Given the description of an element on the screen output the (x, y) to click on. 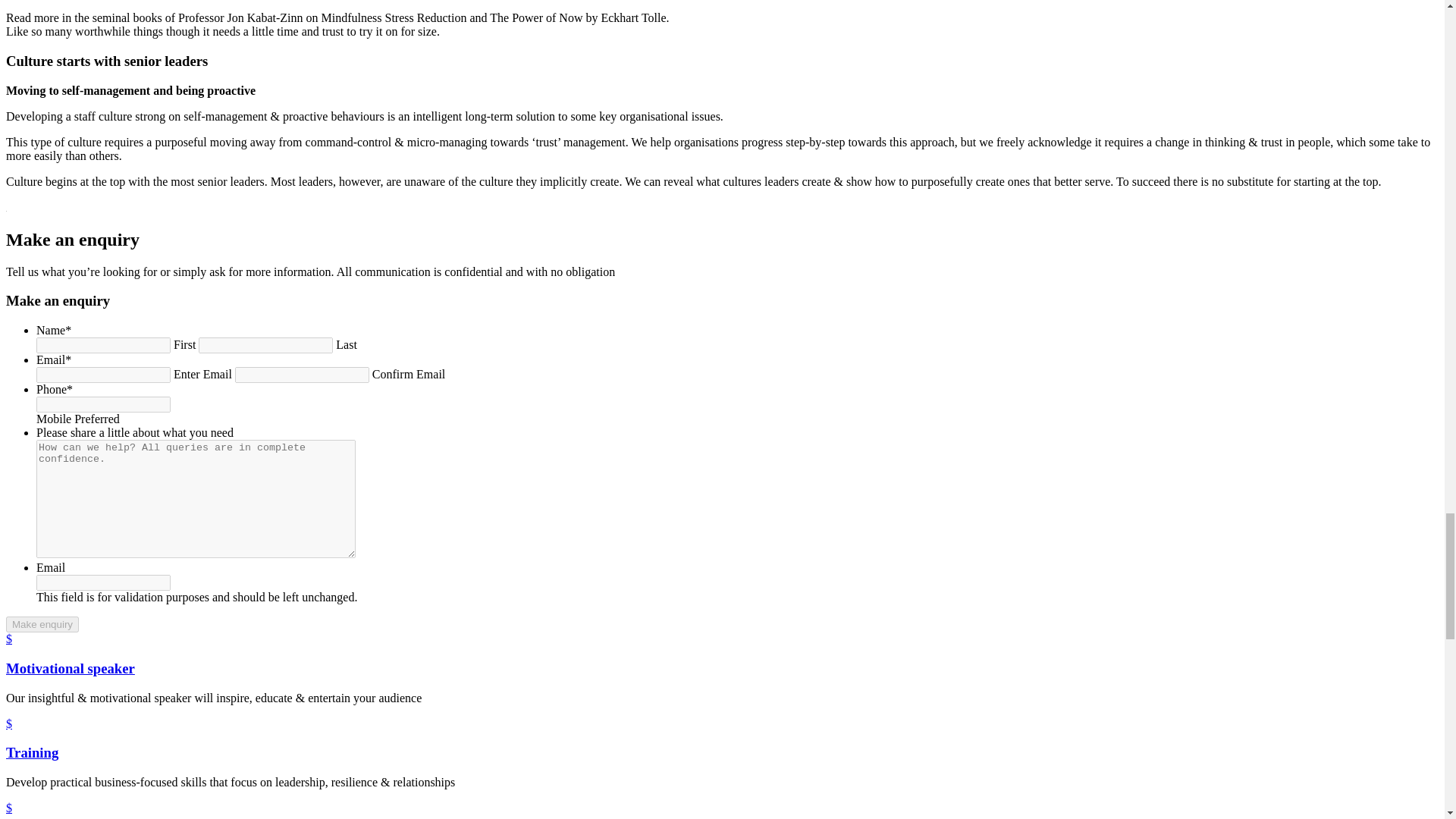
Make enquiry (41, 624)
Motivational speaker (70, 668)
Make enquiry (41, 624)
